Given the description of an element on the screen output the (x, y) to click on. 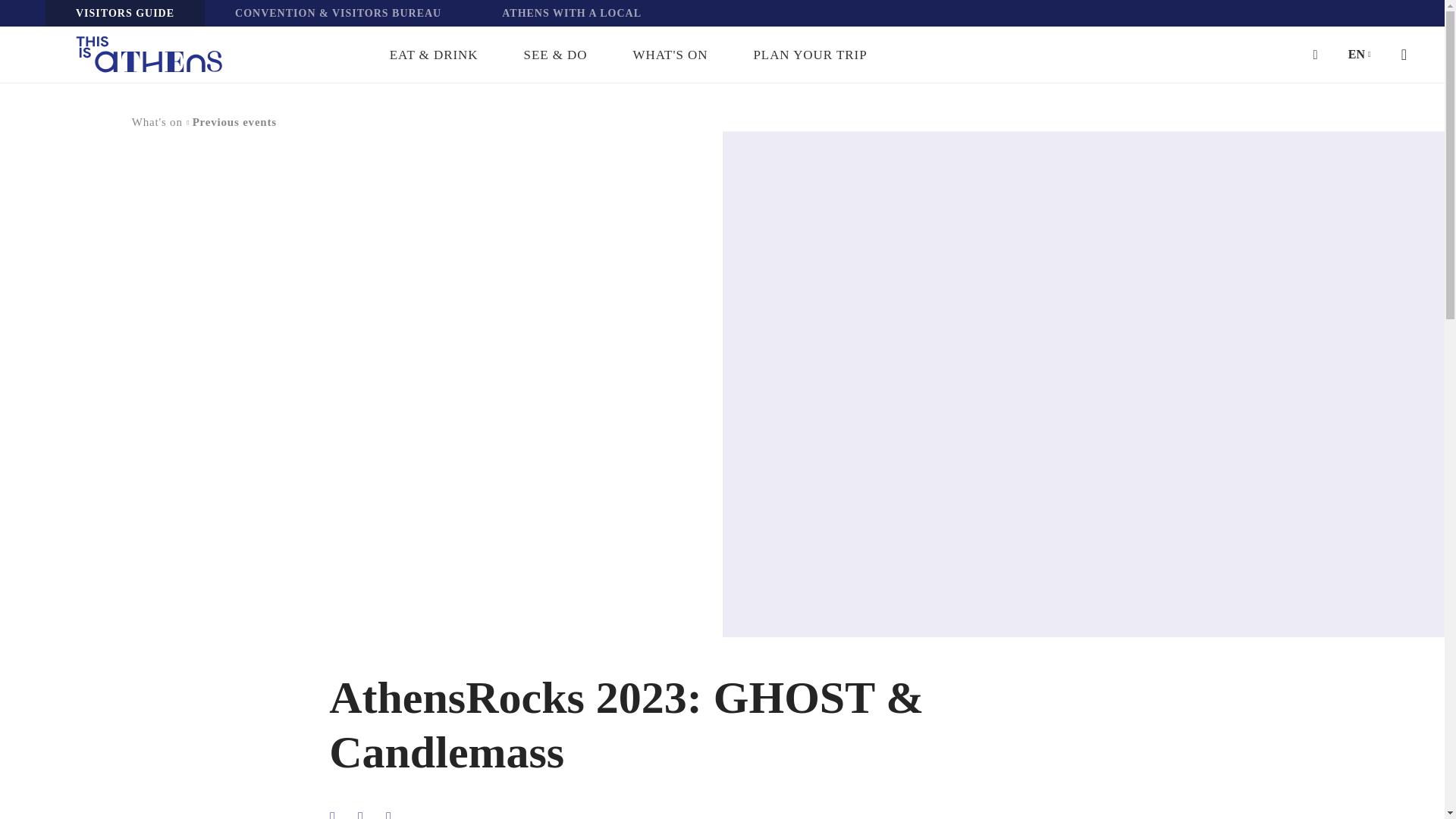
Skip to main content (23, 24)
ATHENS WITH A LOCAL (571, 13)
VISITORS GUIDE (125, 13)
This is Athens (148, 54)
